Given the description of an element on the screen output the (x, y) to click on. 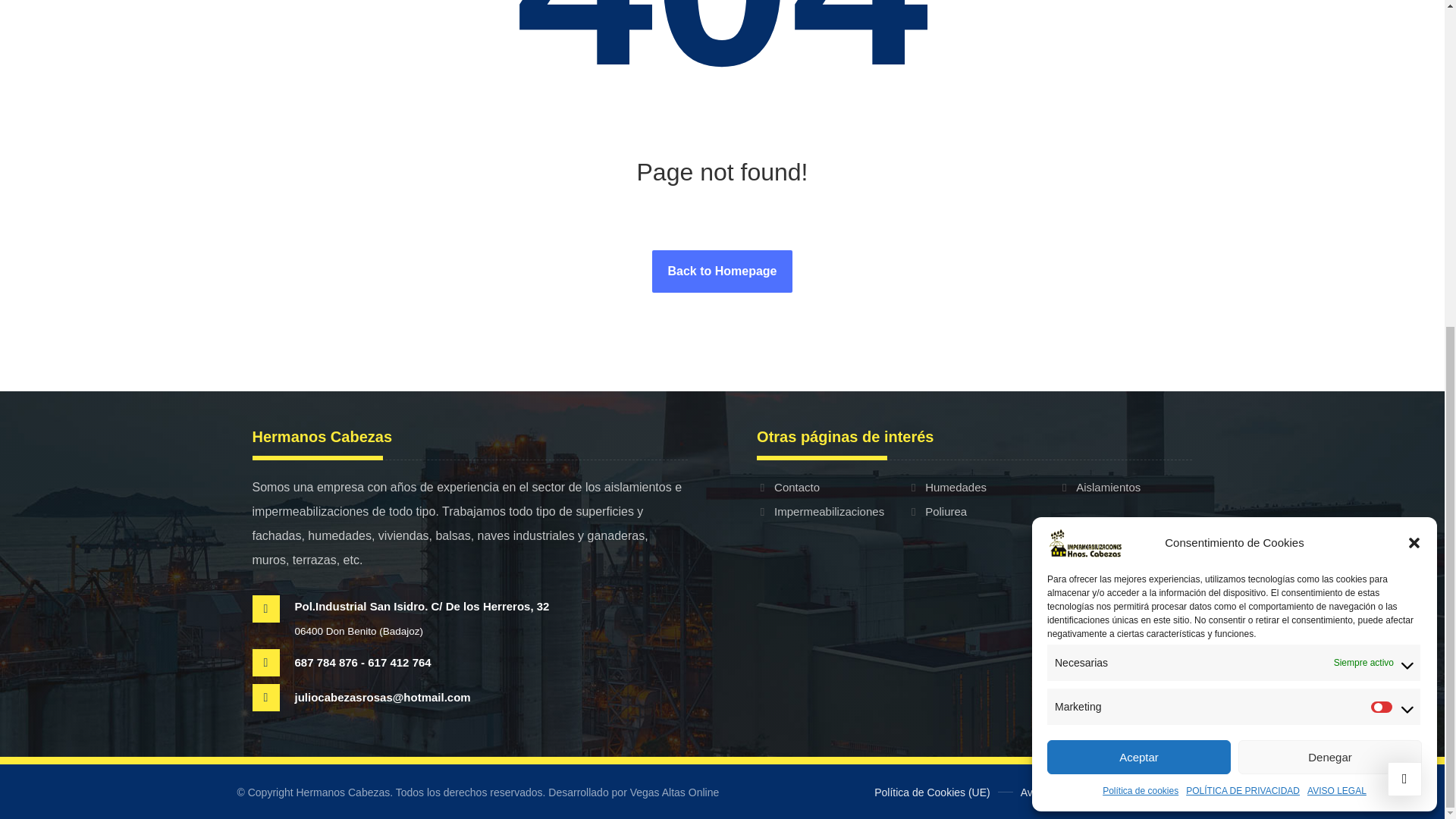
Aceptar (1138, 220)
AVISO LEGAL (1337, 253)
Back to Homepage (722, 271)
Denegar (1330, 220)
